Given the description of an element on the screen output the (x, y) to click on. 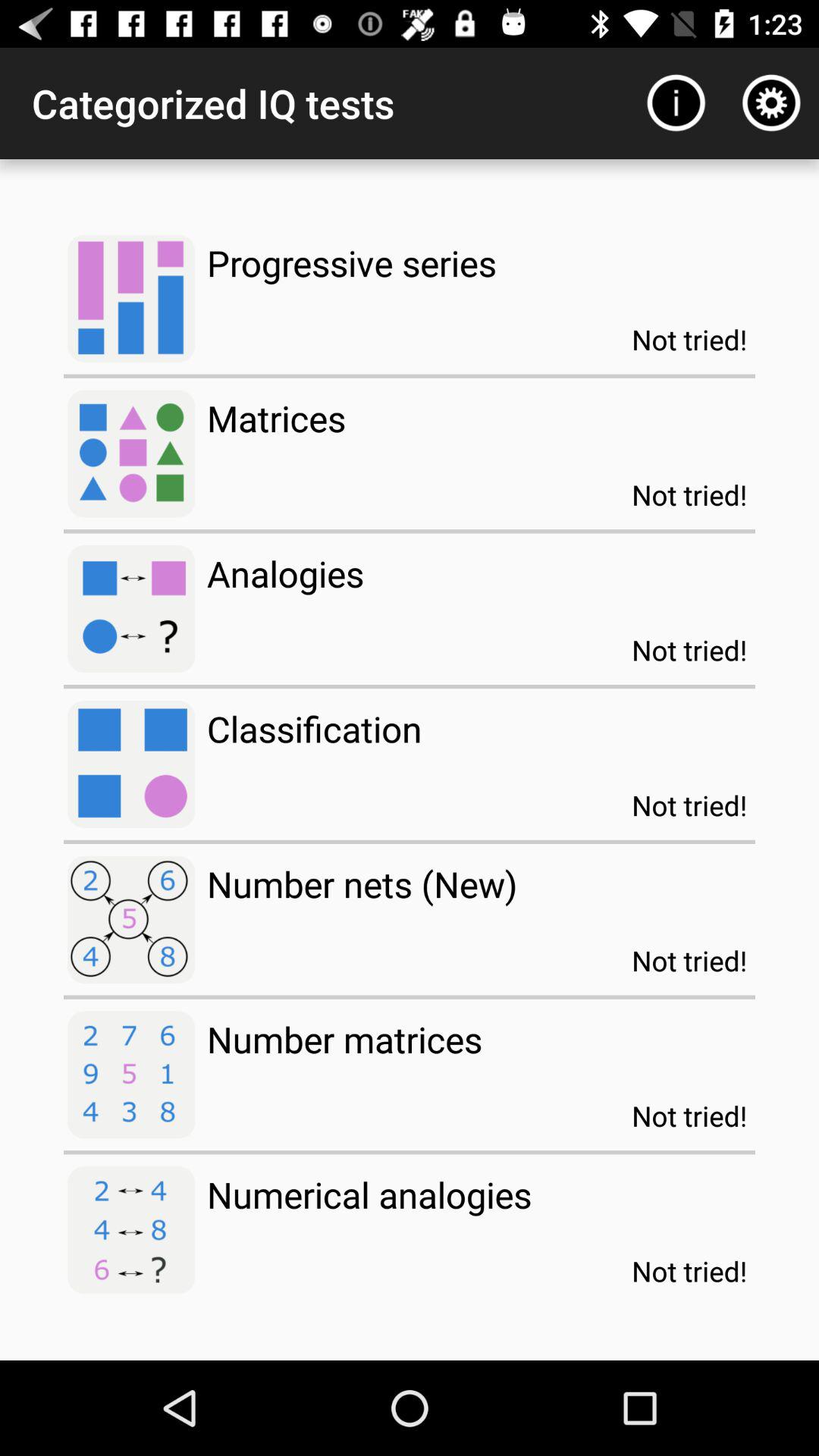
press classification item (314, 728)
